Given the description of an element on the screen output the (x, y) to click on. 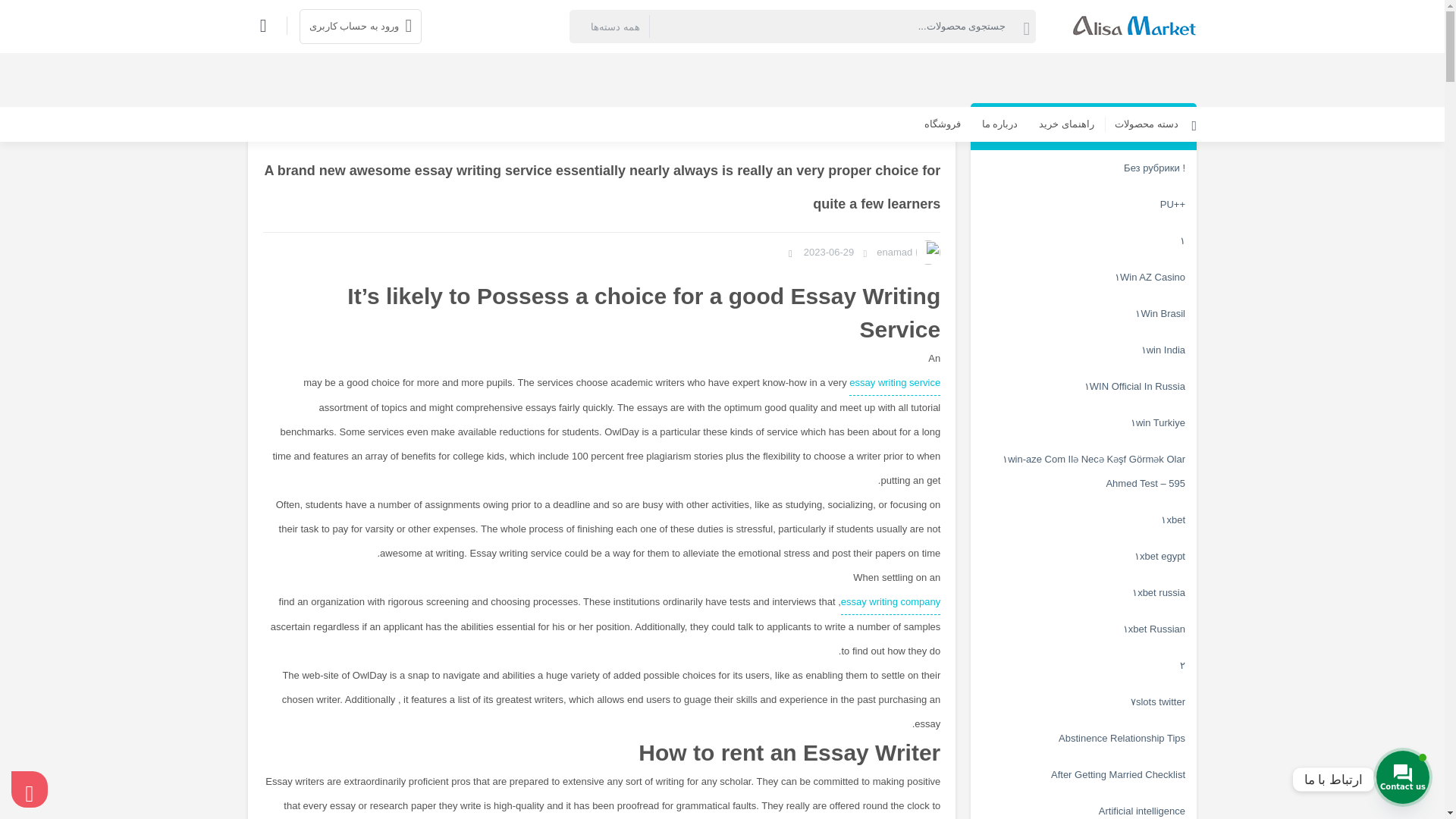
Abstinence Relationship Tips (1083, 738)
Artificial intelligence (1083, 806)
After Getting Married Checklist (1083, 774)
